Given the description of an element on the screen output the (x, y) to click on. 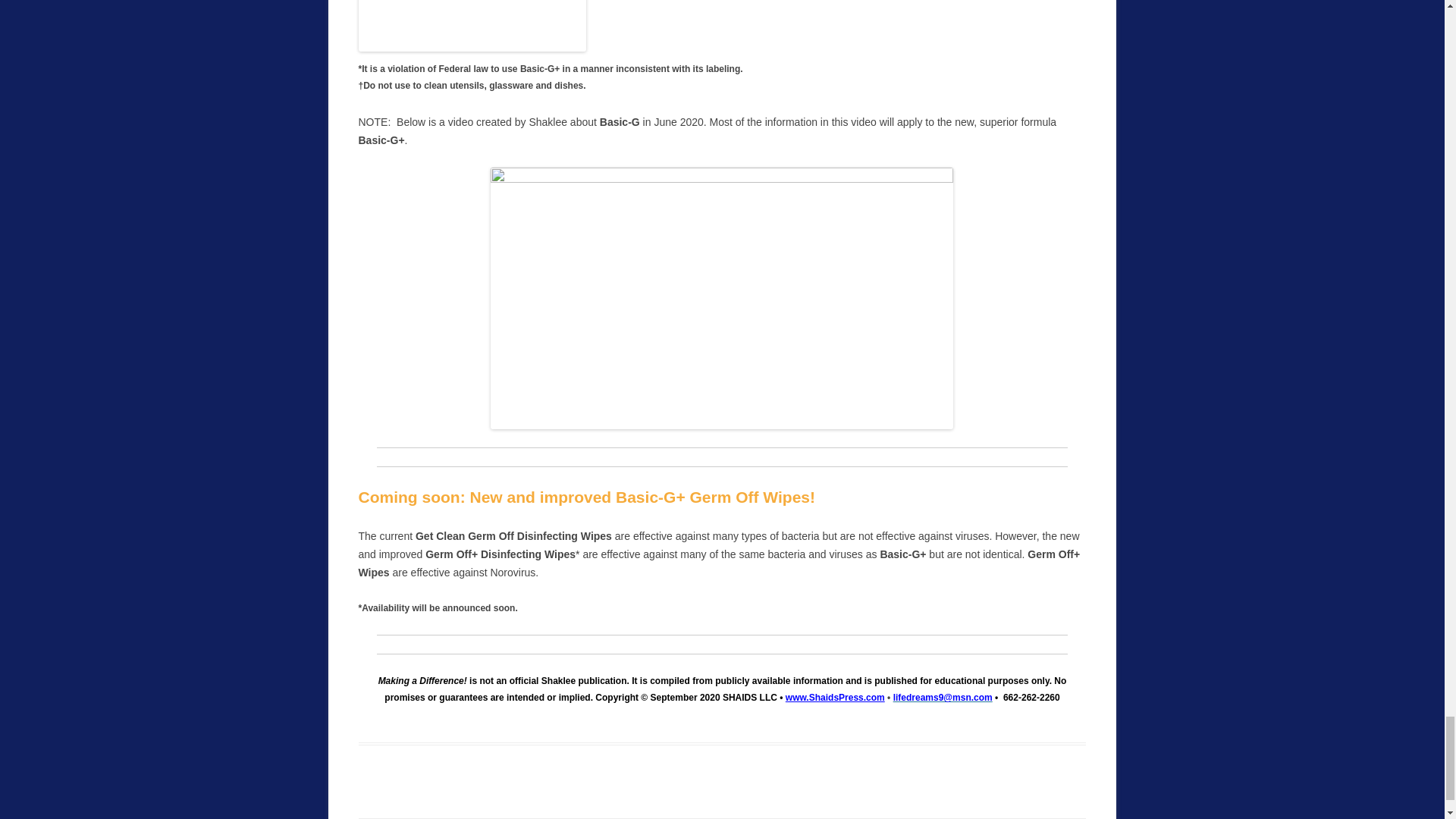
www.ShaidsPress.com (835, 697)
